Given the description of an element on the screen output the (x, y) to click on. 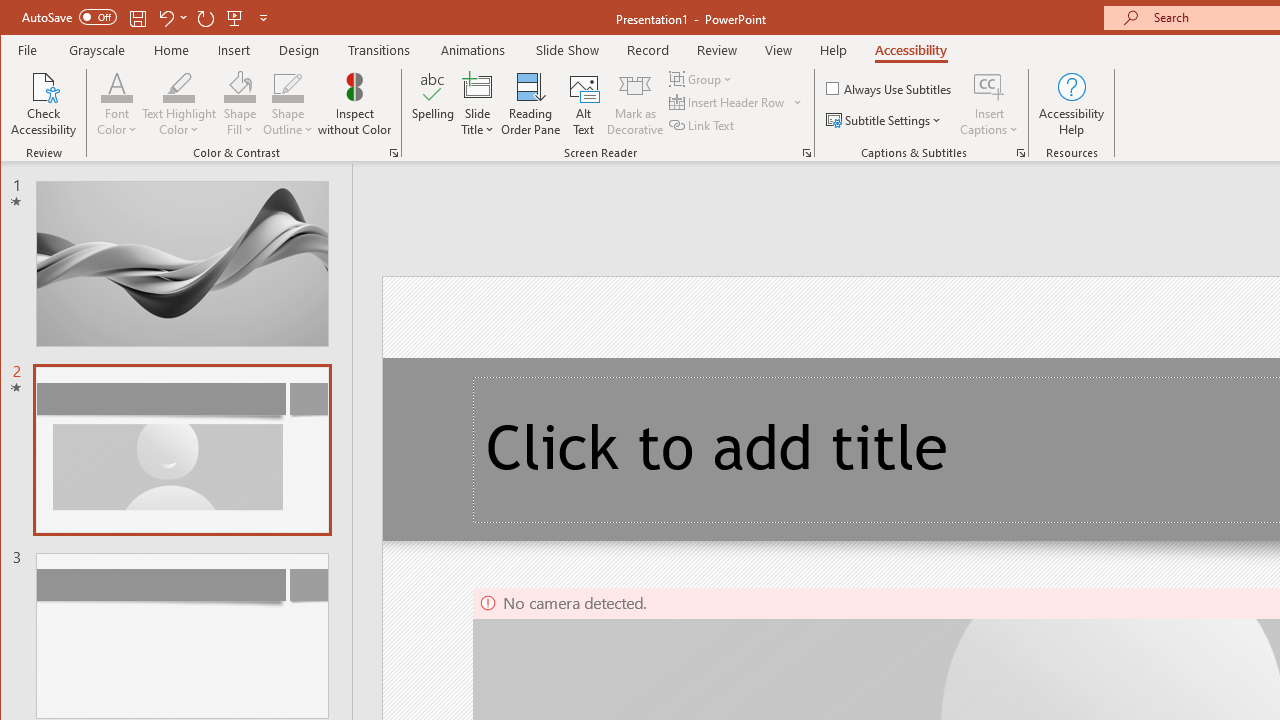
Reading Order Pane (531, 104)
Insert Header Row (735, 101)
Always Use Subtitles (890, 88)
Link Text (703, 124)
Slide Title (477, 104)
Insert Captions (989, 86)
